Given the description of an element on the screen output the (x, y) to click on. 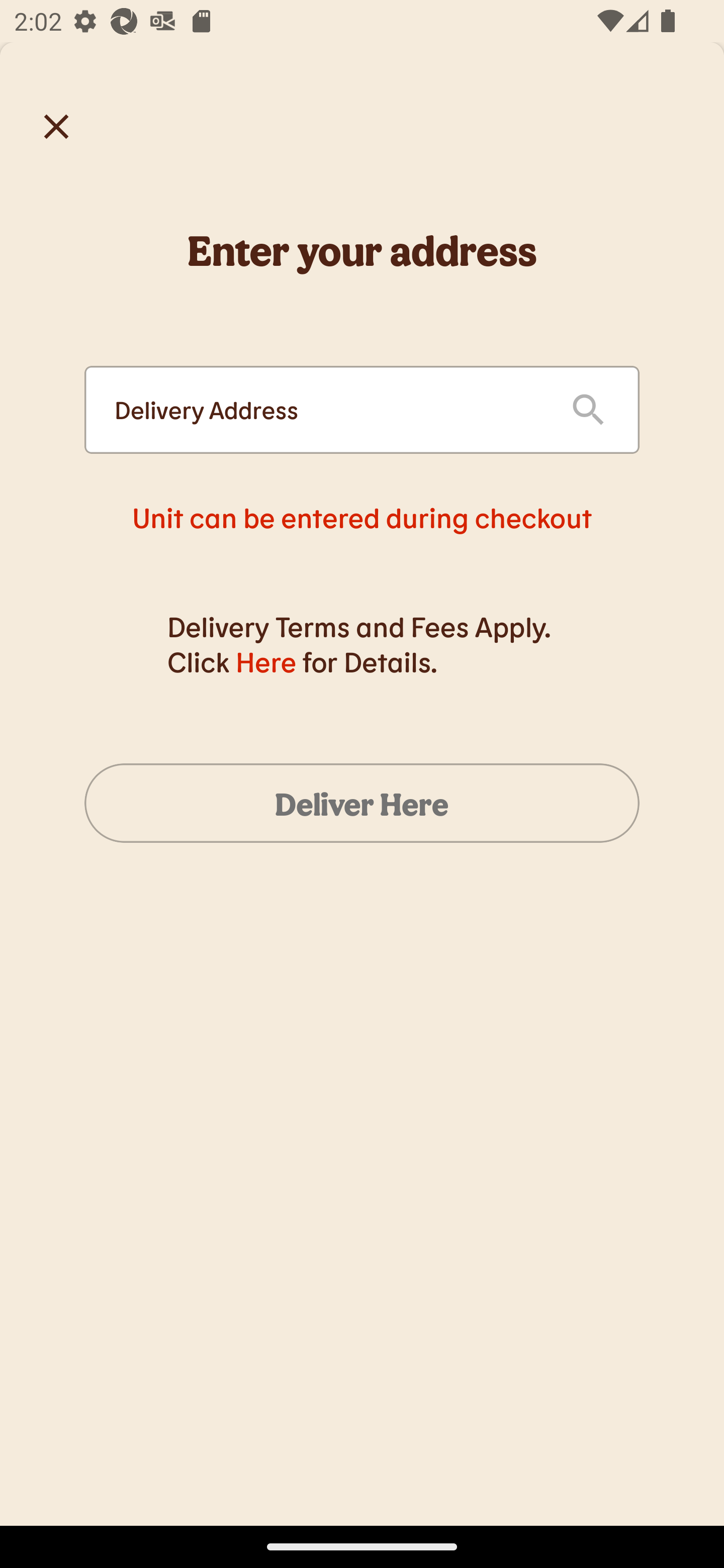
Delivery Address (326, 409)
Deliver Here (361, 803)
